Given the description of an element on the screen output the (x, y) to click on. 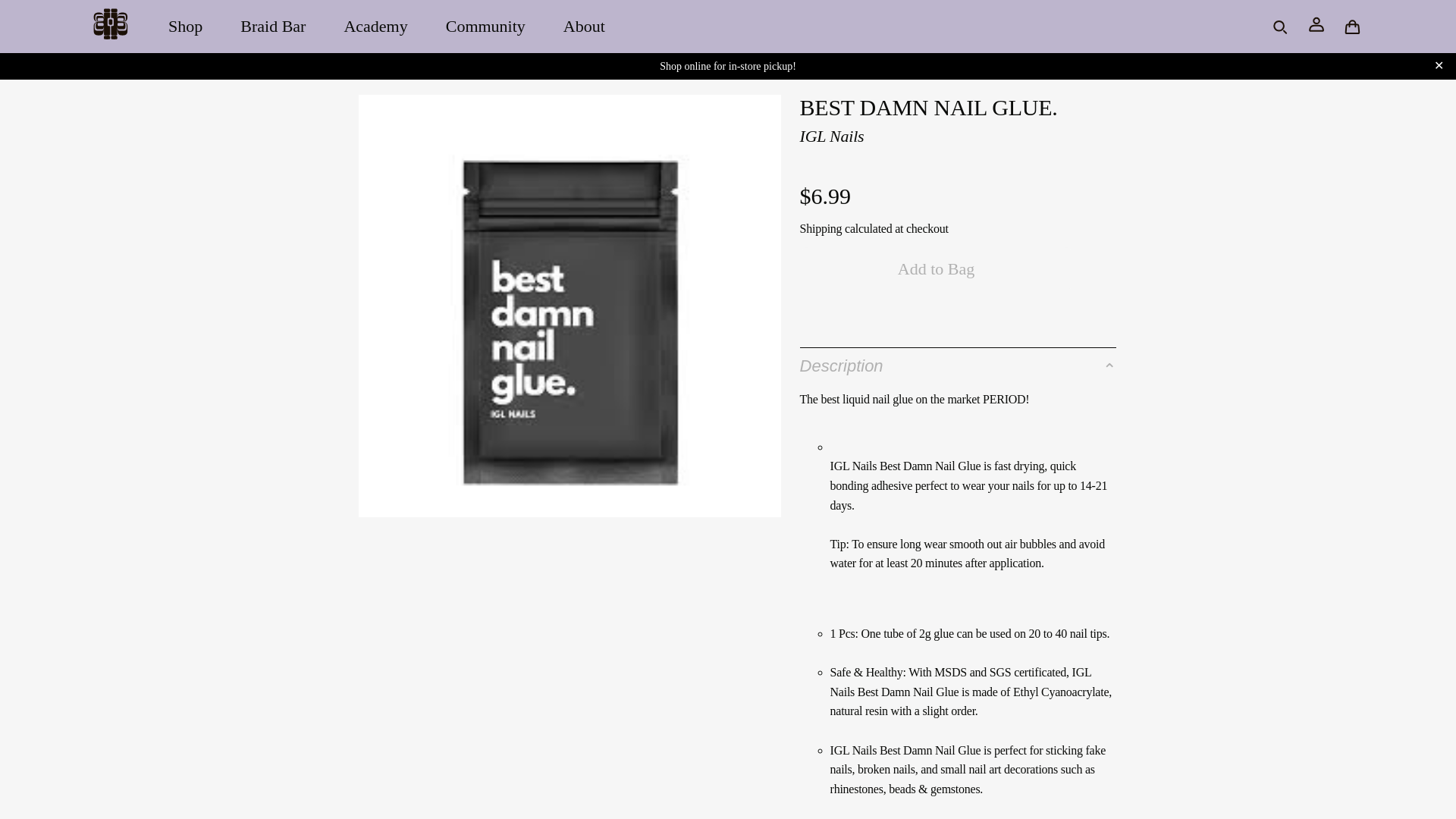
Add to Bag (936, 268)
Braid Bar (272, 26)
Academy (375, 26)
Community (485, 26)
